Given the description of an element on the screen output the (x, y) to click on. 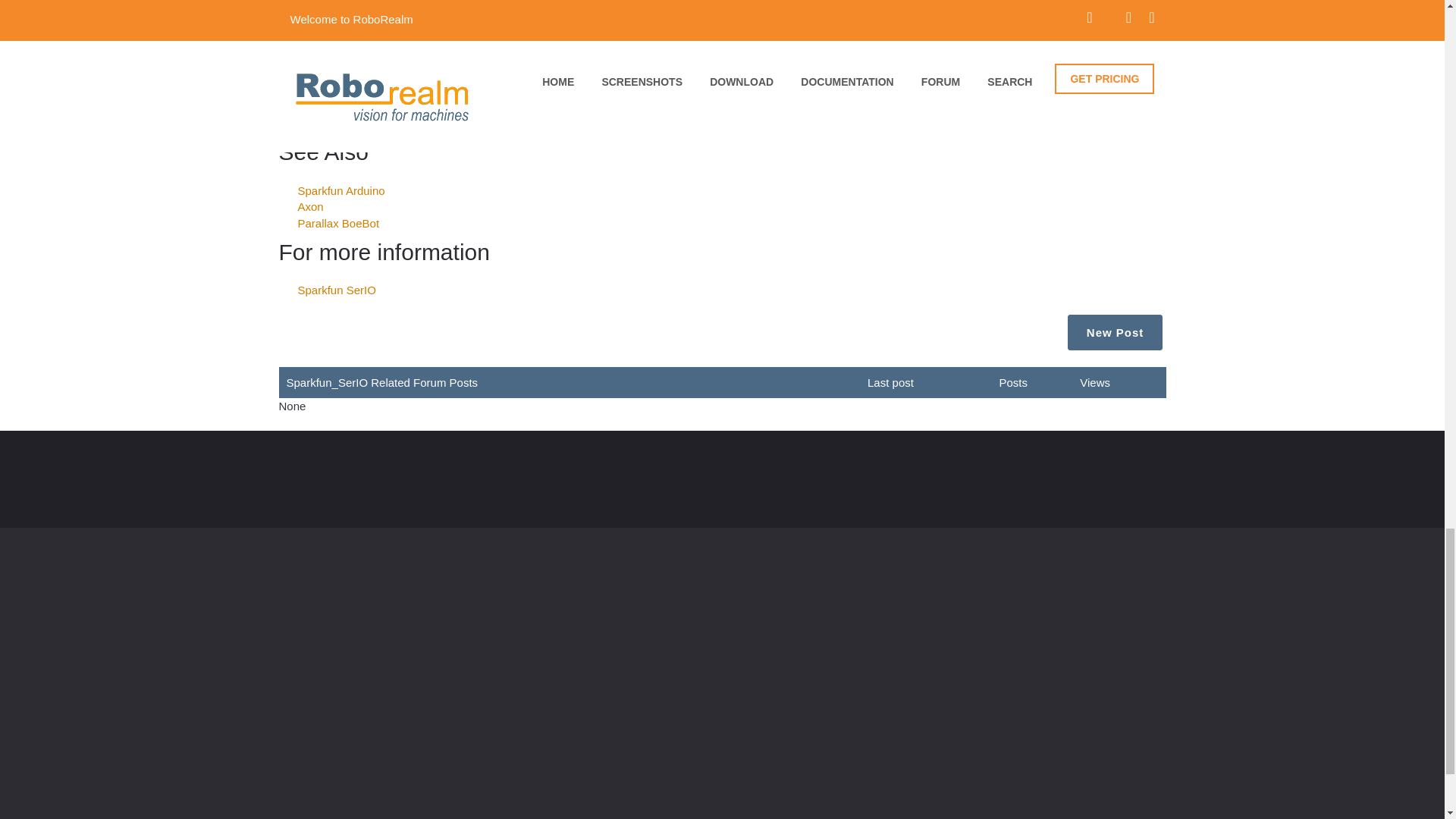
Sparkfun Arduino (340, 190)
Parallax BoeBot (337, 223)
New Post (1115, 332)
Axon (310, 205)
Sparkfun SerIO (336, 289)
